Given the description of an element on the screen output the (x, y) to click on. 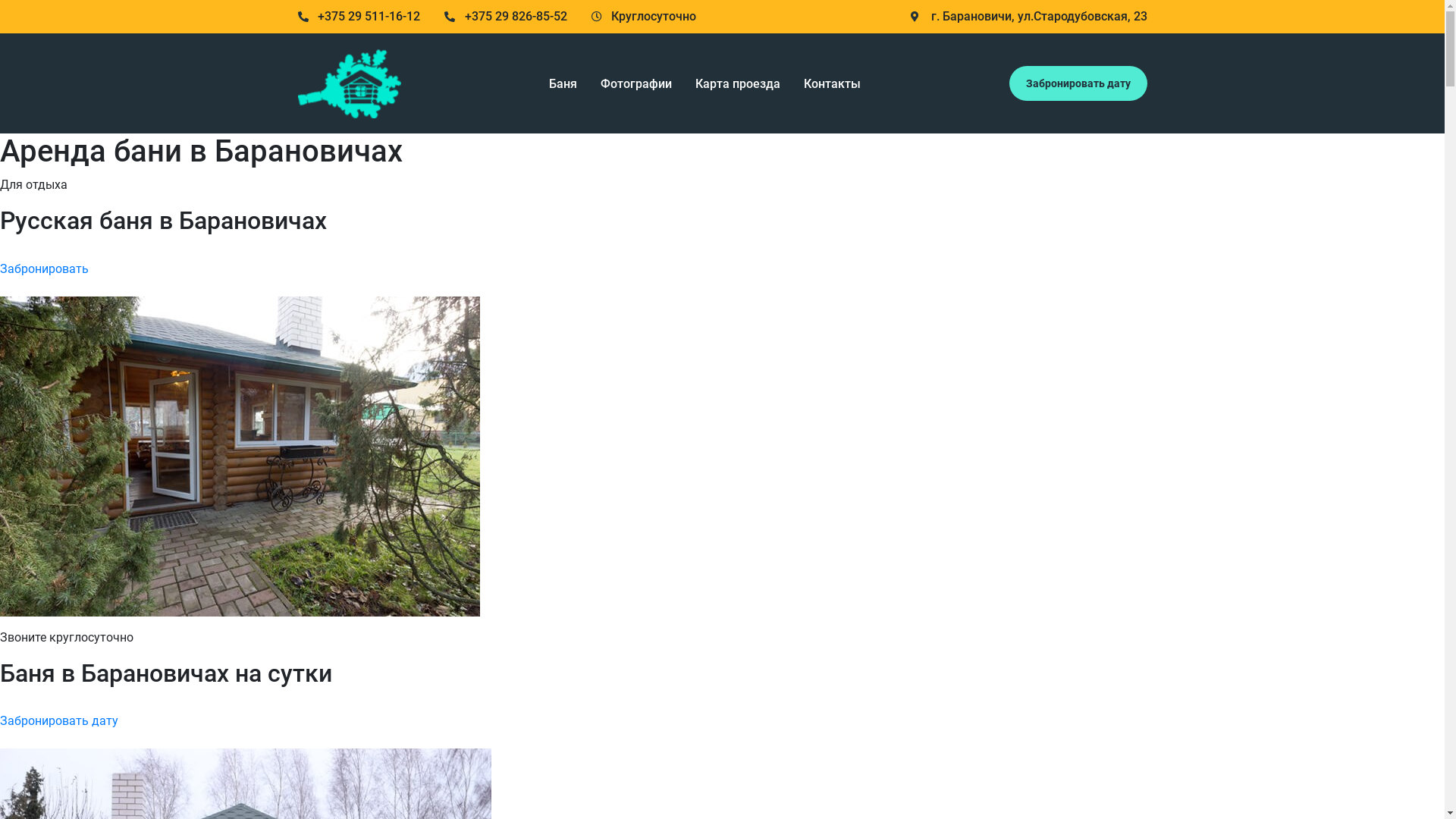
+375 29 511-16-12 Element type: text (358, 16)
+375 29 826-85-52 Element type: text (505, 16)
